Given the description of an element on the screen output the (x, y) to click on. 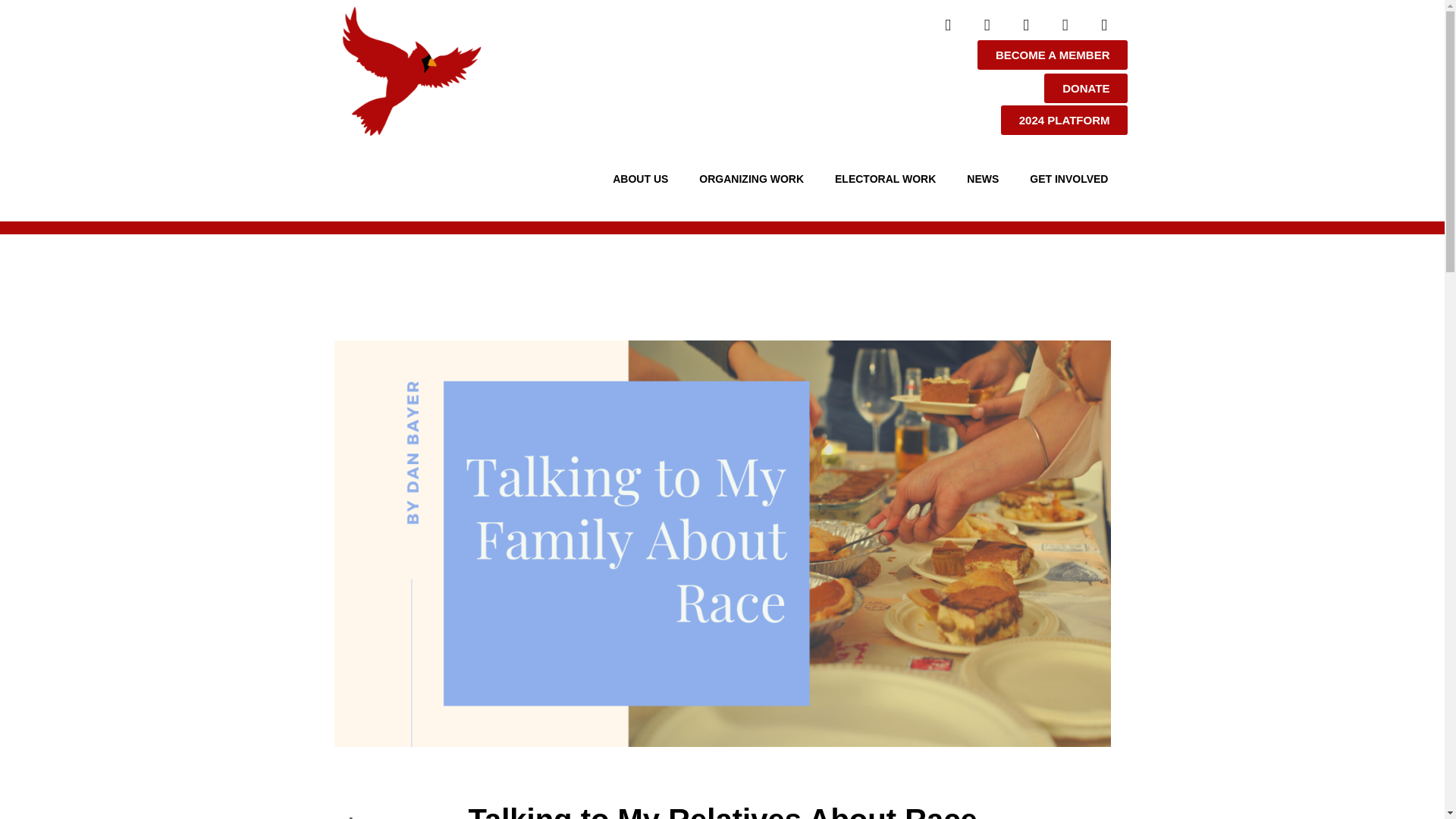
ORGANIZING WORK (755, 179)
NEWS (986, 179)
BECOME A MEMBER (1052, 54)
GET INVOLVED (1071, 179)
2024 PLATFORM (1064, 120)
DONATE (1084, 88)
ABOUT US (644, 179)
ELECTORAL WORK (889, 179)
